Given the description of an element on the screen output the (x, y) to click on. 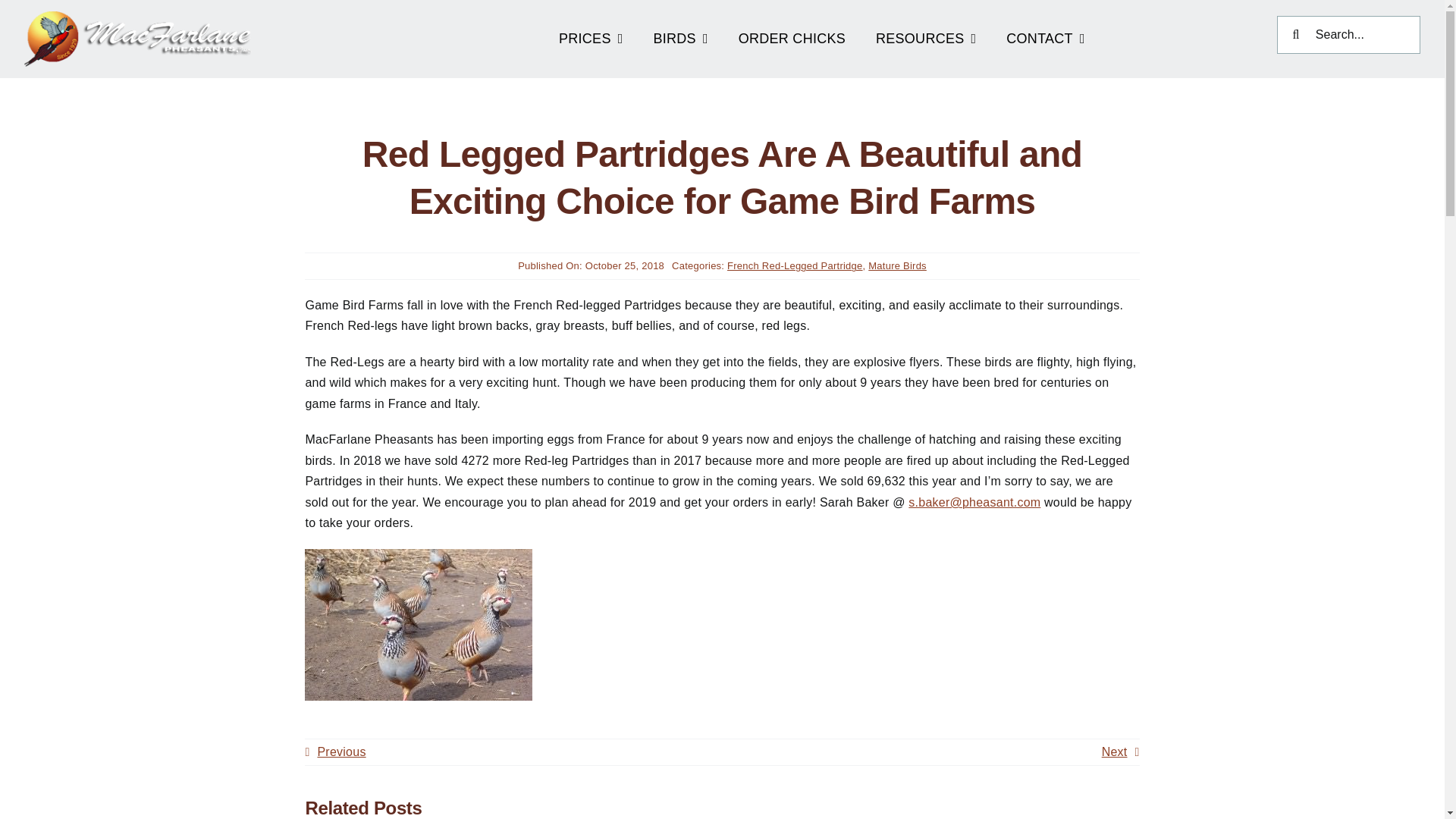
PRICES (591, 34)
BIRDS (681, 34)
RESOURCES (925, 34)
ORDER CHICKS (791, 34)
